Given the description of an element on the screen output the (x, y) to click on. 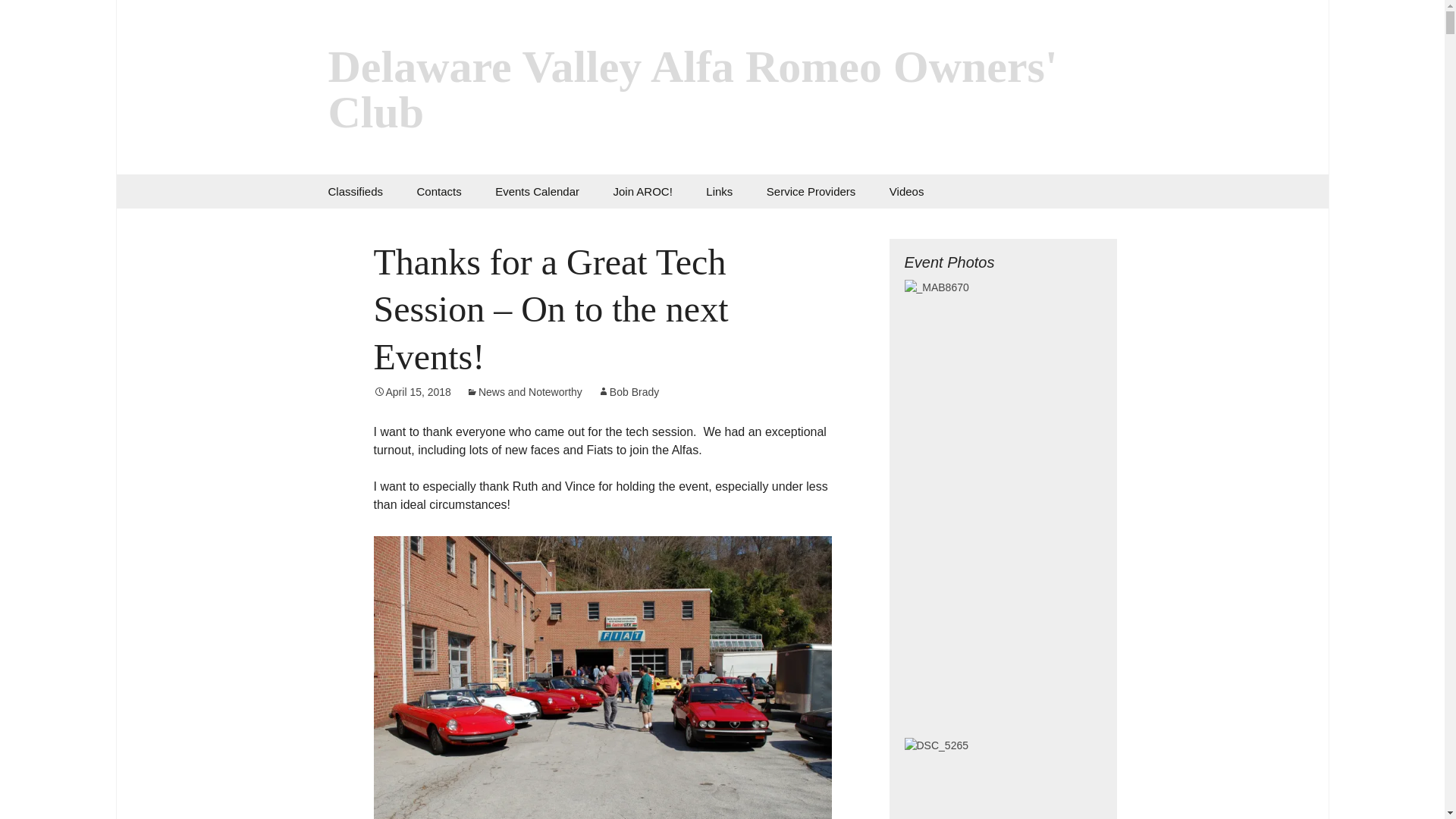
Bob Brady (627, 391)
Contacts (438, 191)
Videos (907, 191)
Search (18, 15)
Classifieds (355, 191)
April 15, 2018 (410, 391)
Links (719, 191)
